Given the description of an element on the screen output the (x, y) to click on. 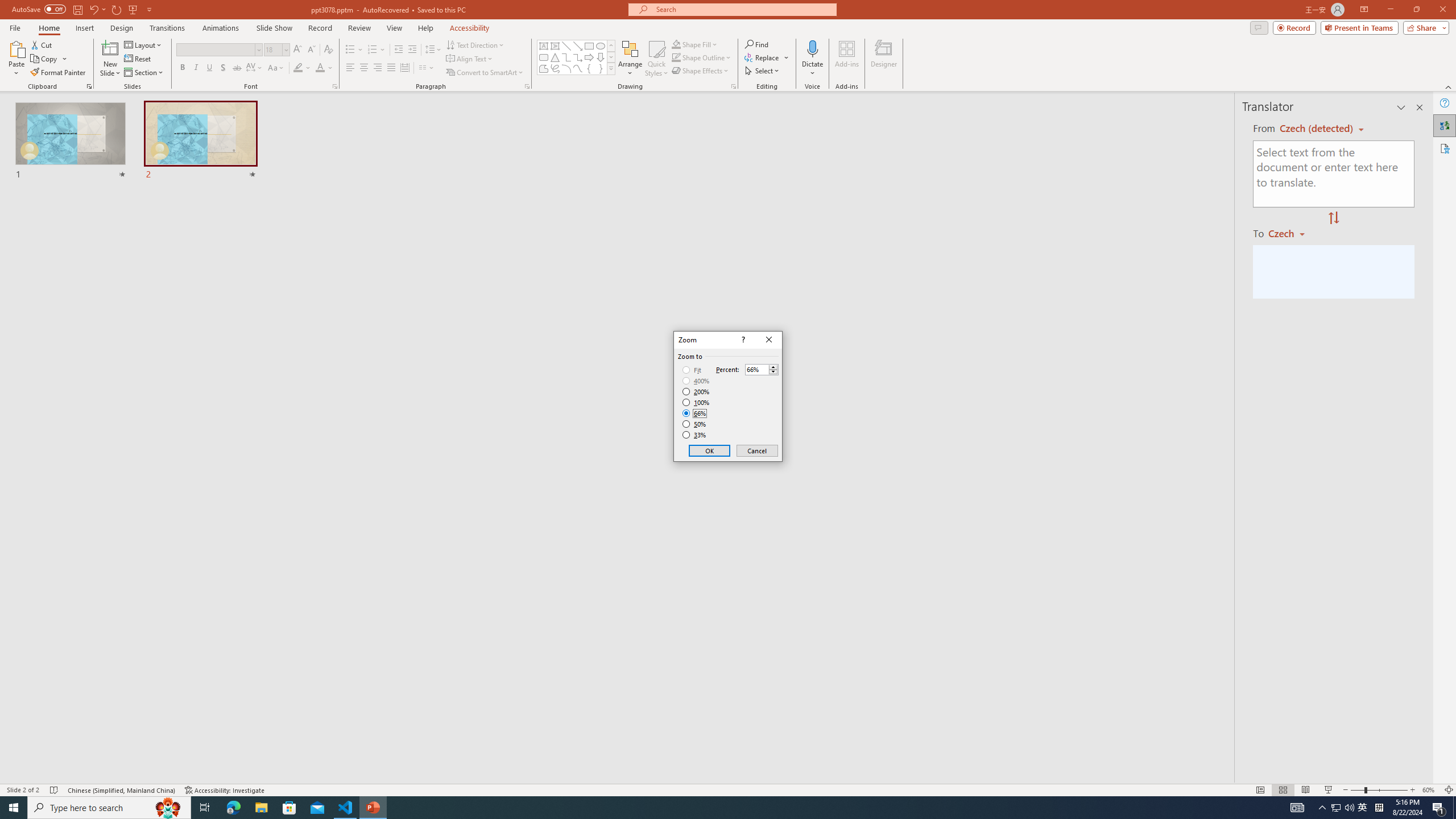
Action Center, 1 new notification (1439, 807)
100% (696, 402)
